Given the description of an element on the screen output the (x, y) to click on. 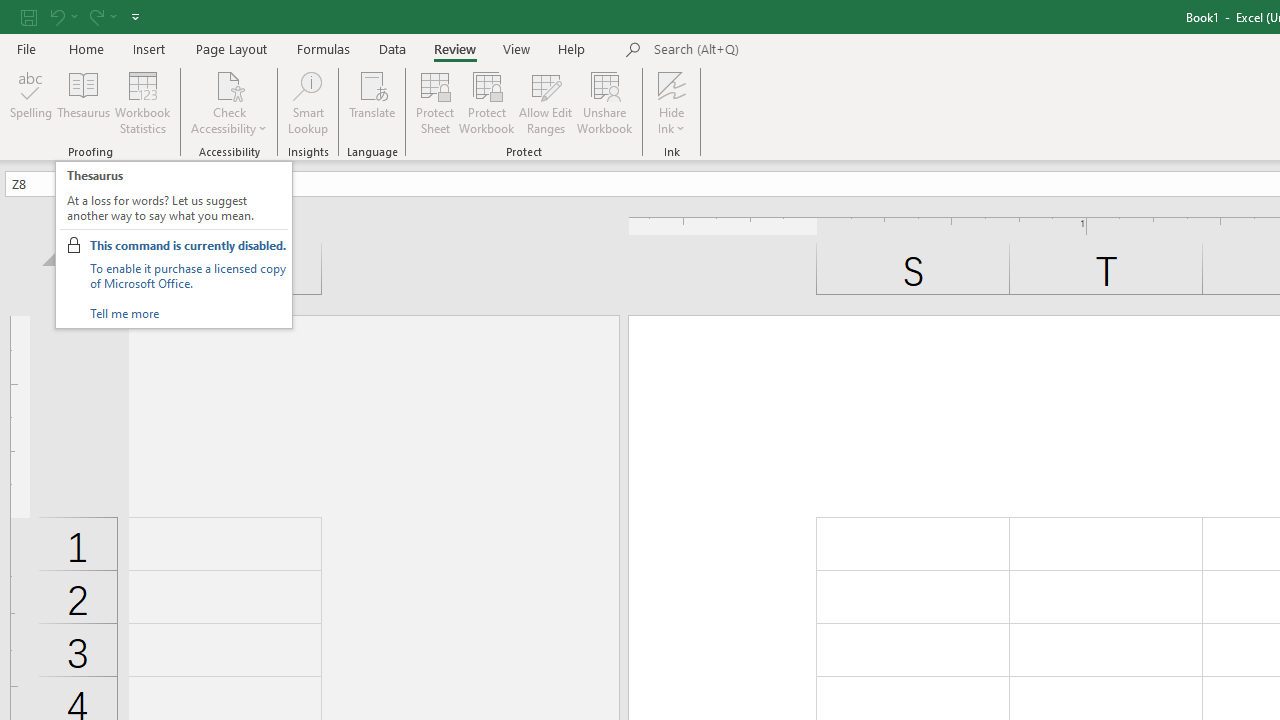
Workbook Statistics (142, 102)
Protect Workbook... (486, 102)
Allow Edit Ranges (545, 102)
